Given the description of an element on the screen output the (x, y) to click on. 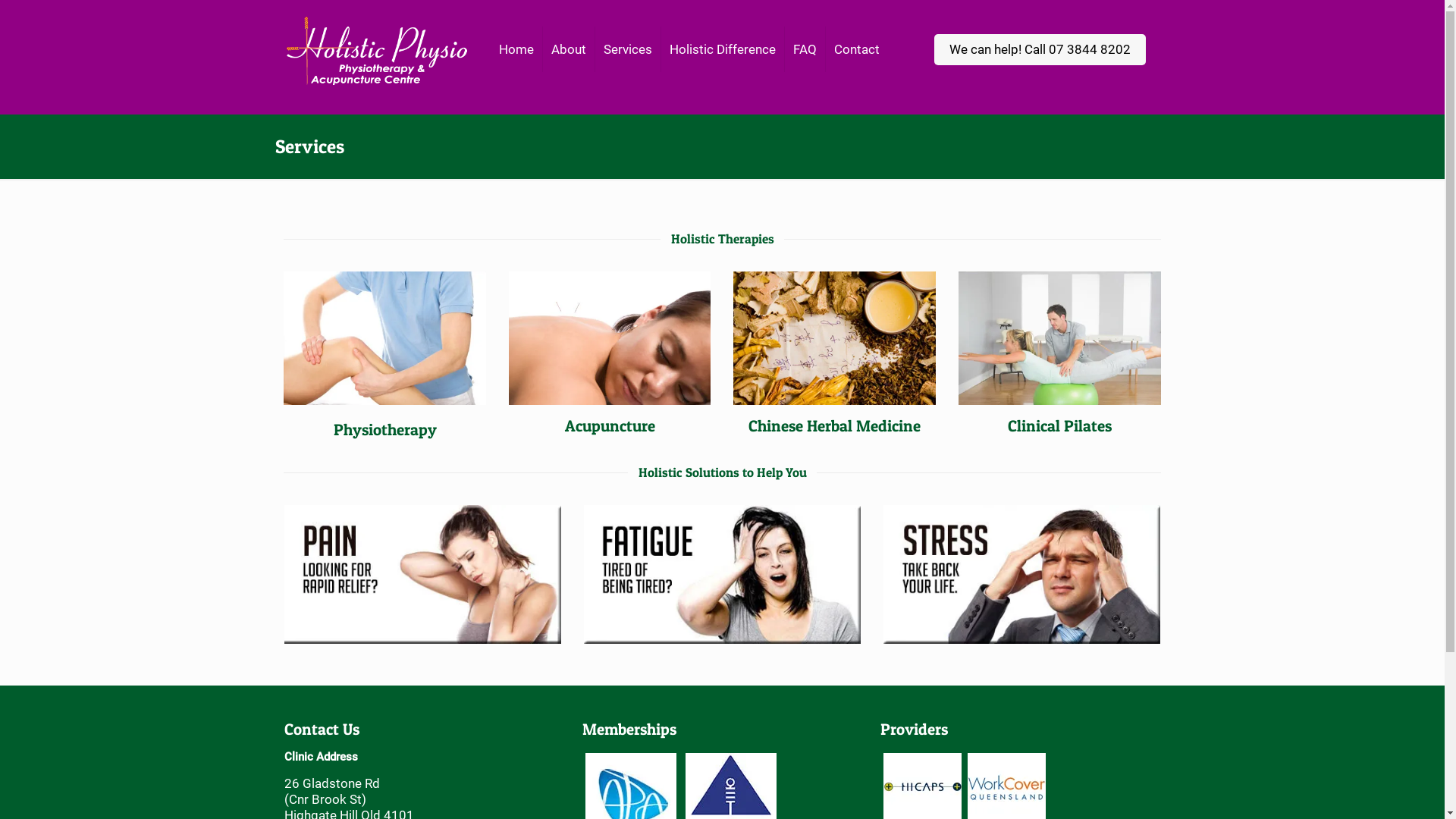
About Element type: text (568, 49)
Acupuncture Element type: text (609, 425)
Home Element type: text (516, 49)
Services Element type: text (628, 49)
Physiotherapy Element type: text (384, 429)
Clinical Pilates Element type: text (1059, 425)
Chinese Herbal Medicine Element type: text (834, 425)
Contact Element type: text (856, 49)
Holistic Difference Element type: text (722, 49)
FAQ Element type: text (804, 49)
We can help! Call 07 3844 8202 Element type: text (1039, 48)
